Given the description of an element on the screen output the (x, y) to click on. 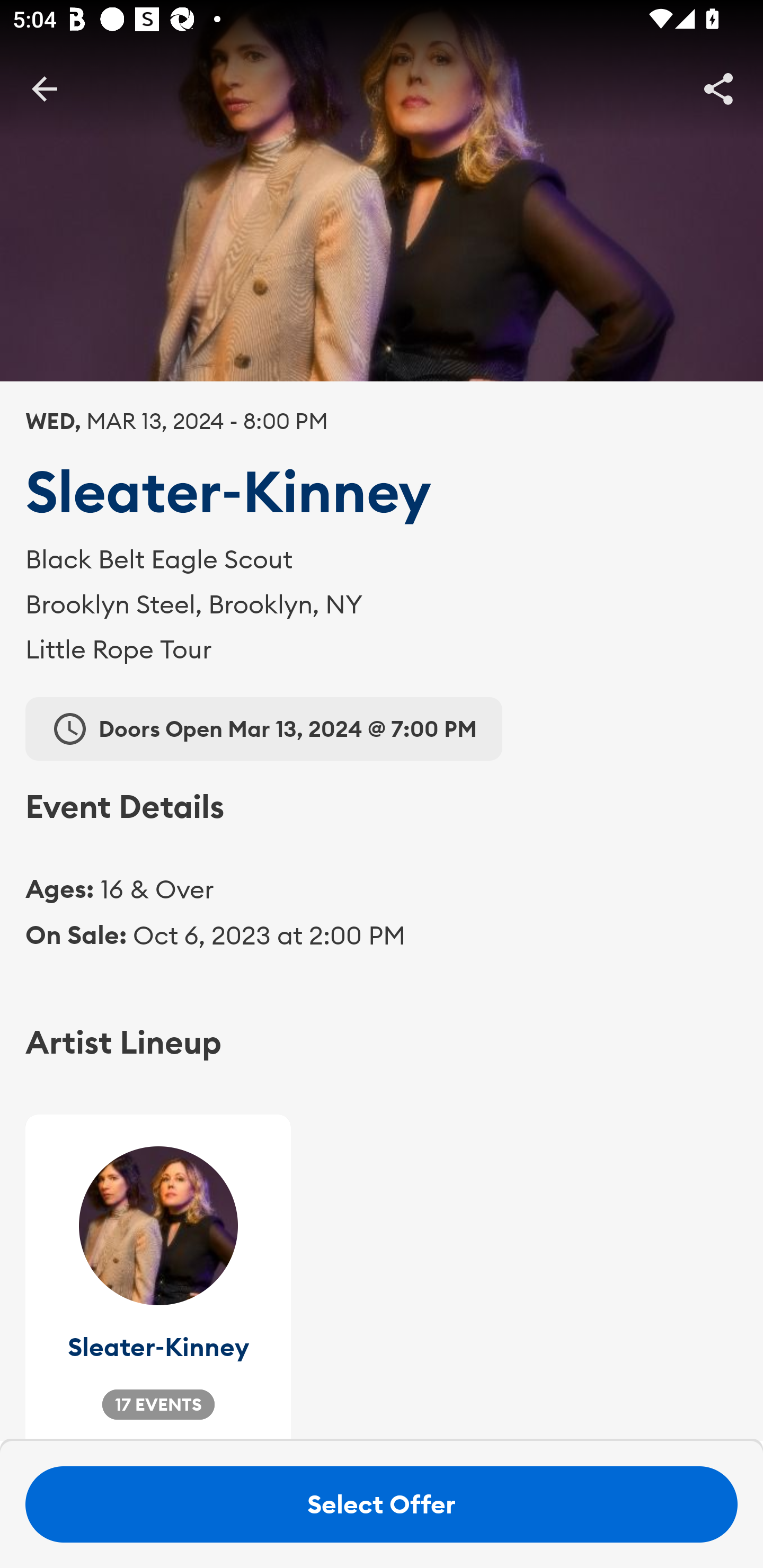
BackButton (44, 88)
Share (718, 88)
Sleater‐Kinney 17 EVENTS (157, 1277)
Select Offer (381, 1504)
